Given the description of an element on the screen output the (x, y) to click on. 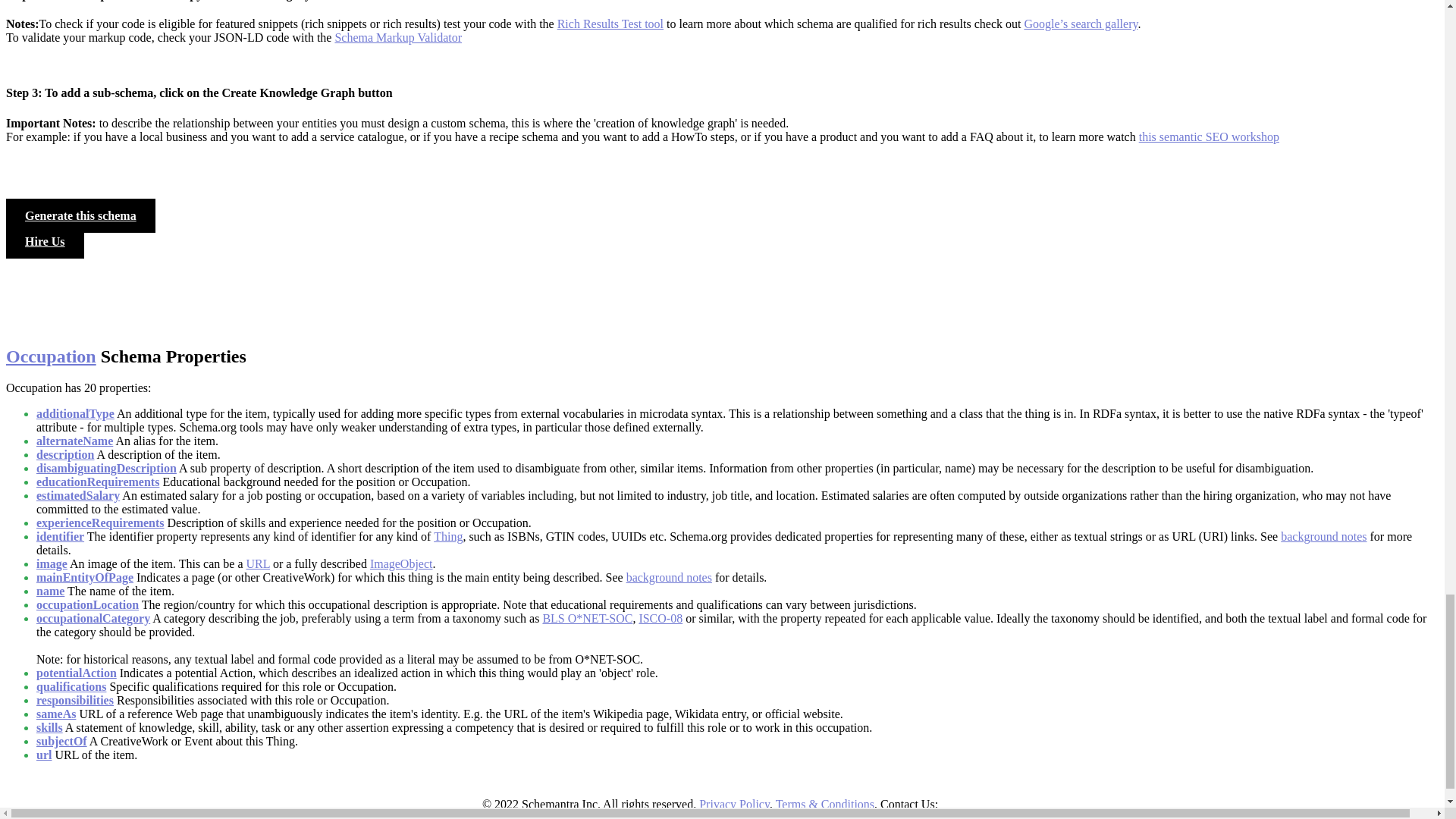
schema markup course (1208, 136)
Hire Us (44, 241)
Generate this schema (80, 215)
additionalType (75, 413)
this semantic SEO workshop (1208, 136)
Occupation Schema (50, 356)
Occupation (50, 356)
Schema Markup Validator (397, 37)
Rich Results Test tool (610, 23)
